Given the description of an element on the screen output the (x, y) to click on. 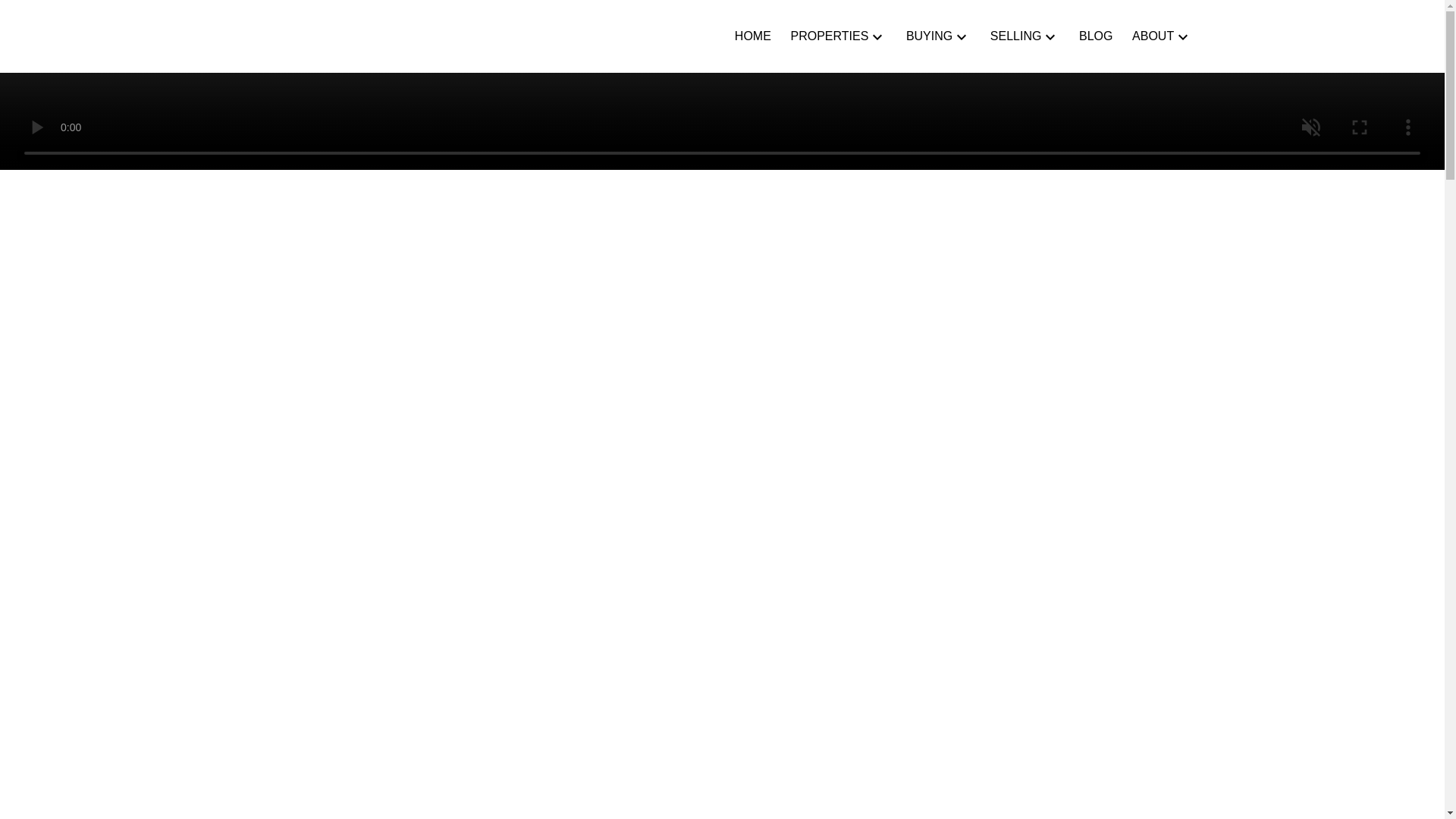
BLOG (1095, 35)
HOME (753, 35)
